Given the description of an element on the screen output the (x, y) to click on. 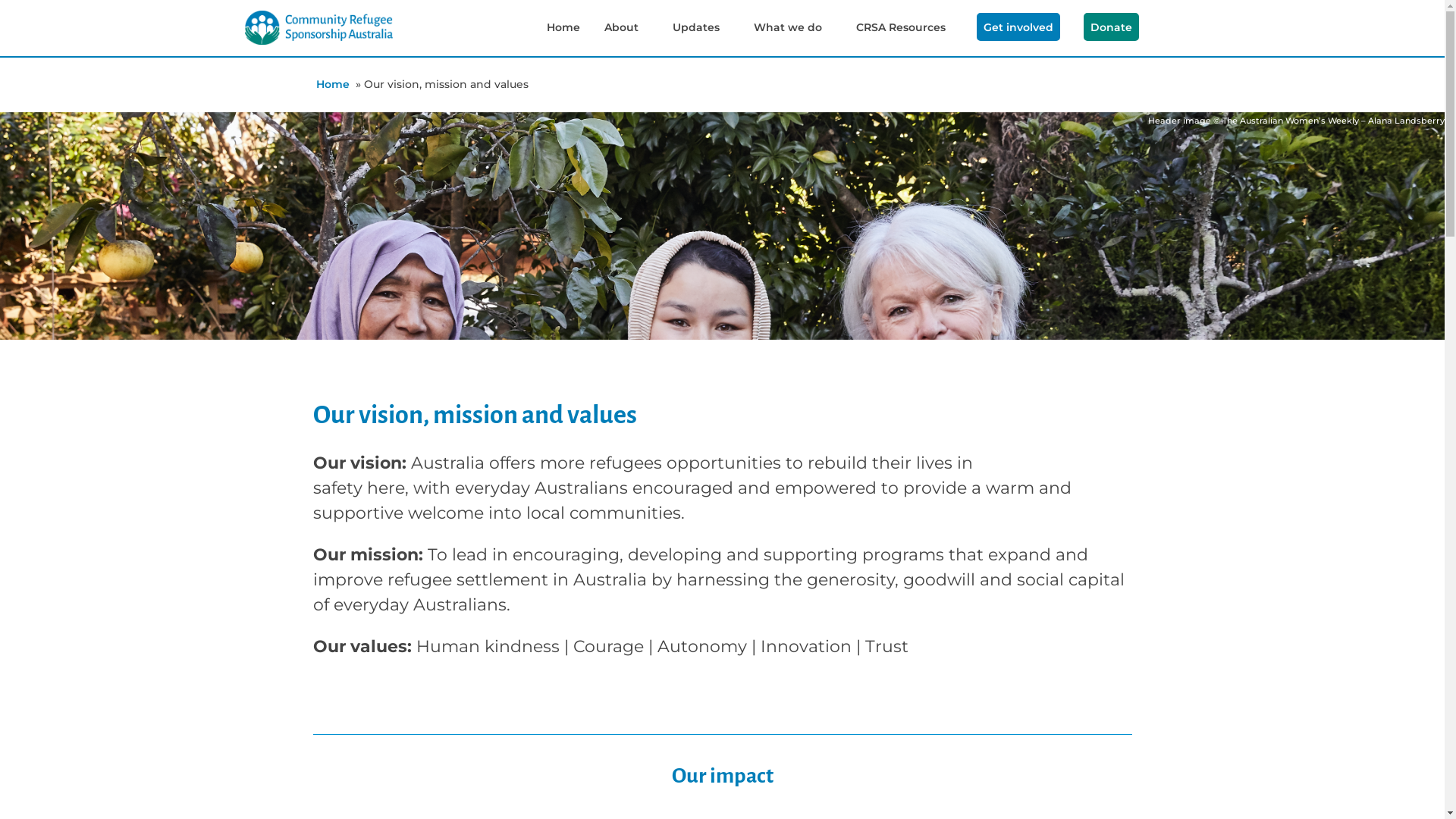
Home Element type: text (562, 19)
What we do Element type: text (787, 19)
Updates Element type: text (694, 19)
Get involved Element type: text (1018, 26)
Donate Element type: text (1110, 26)
About Element type: text (620, 19)
Home Element type: text (331, 84)
CRSA Resources Element type: text (899, 19)
